Given the description of an element on the screen output the (x, y) to click on. 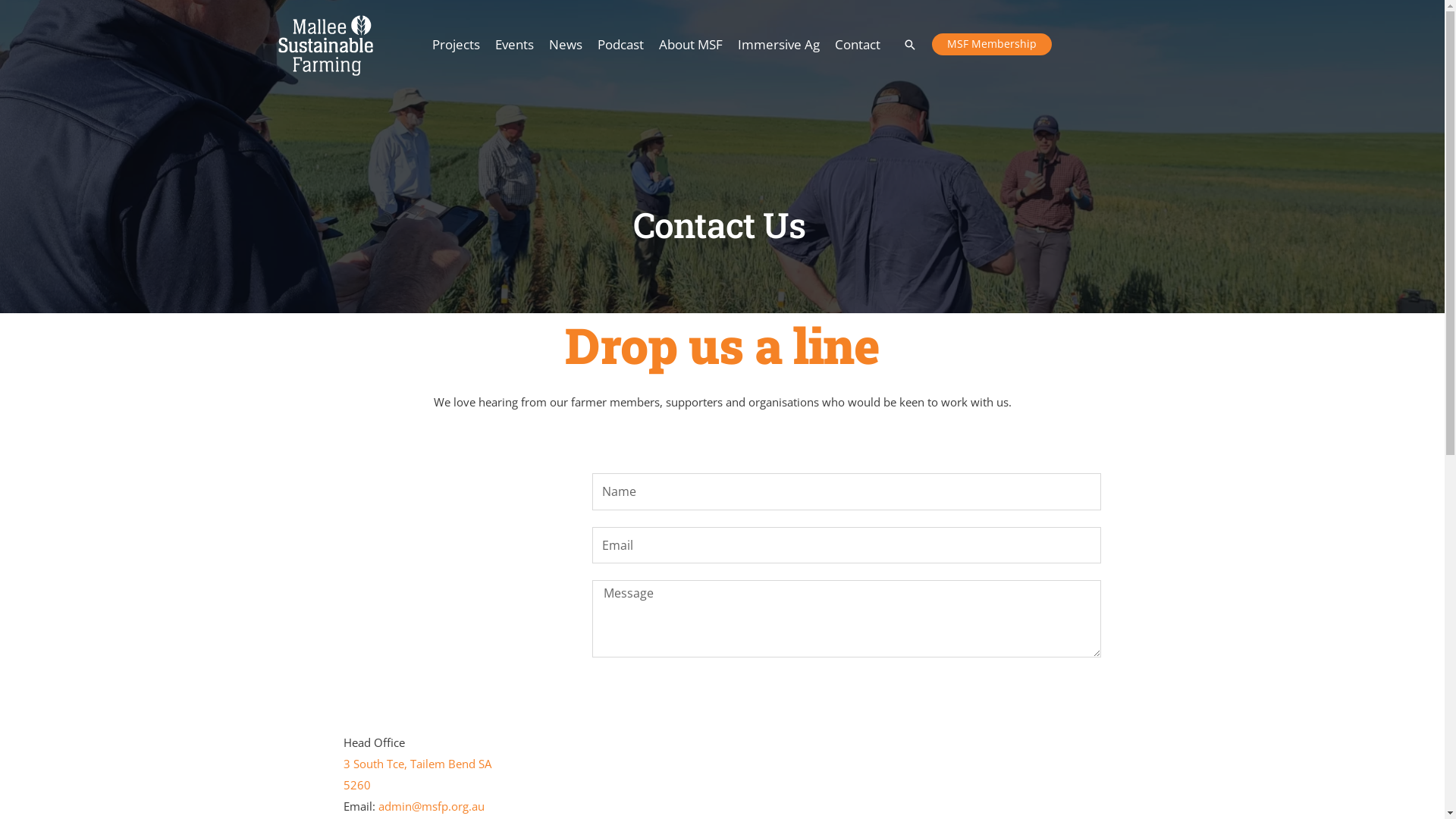
News Element type: text (565, 44)
Podcast Element type: text (620, 44)
About MSF Element type: text (689, 44)
3 South Tce, Tailem Bend Element type: text (408, 763)
msf (2) - Mallee Sustainable Farming Element type: hover (324, 44)
SA 5260 Element type: text (416, 774)
admin@msfp.org.au Element type: text (430, 805)
MSF Membership Element type: text (991, 44)
Projects Element type: text (455, 44)
Events Element type: text (513, 44)
Contact Element type: text (856, 44)
Immersive Ag Element type: text (777, 44)
